Given the description of an element on the screen output the (x, y) to click on. 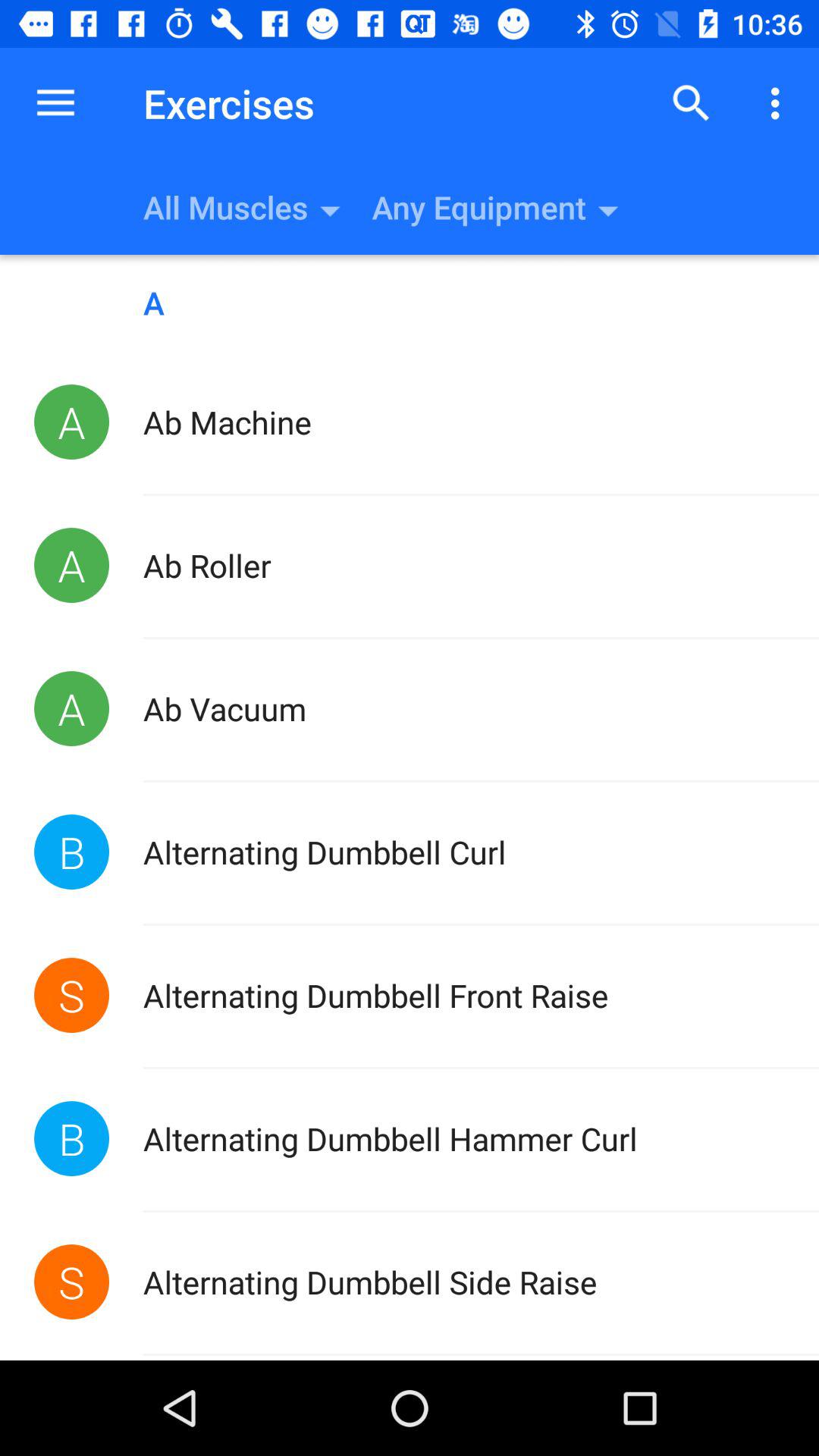
click on menu (779, 103)
click the option any equipment (595, 206)
